Given the description of an element on the screen output the (x, y) to click on. 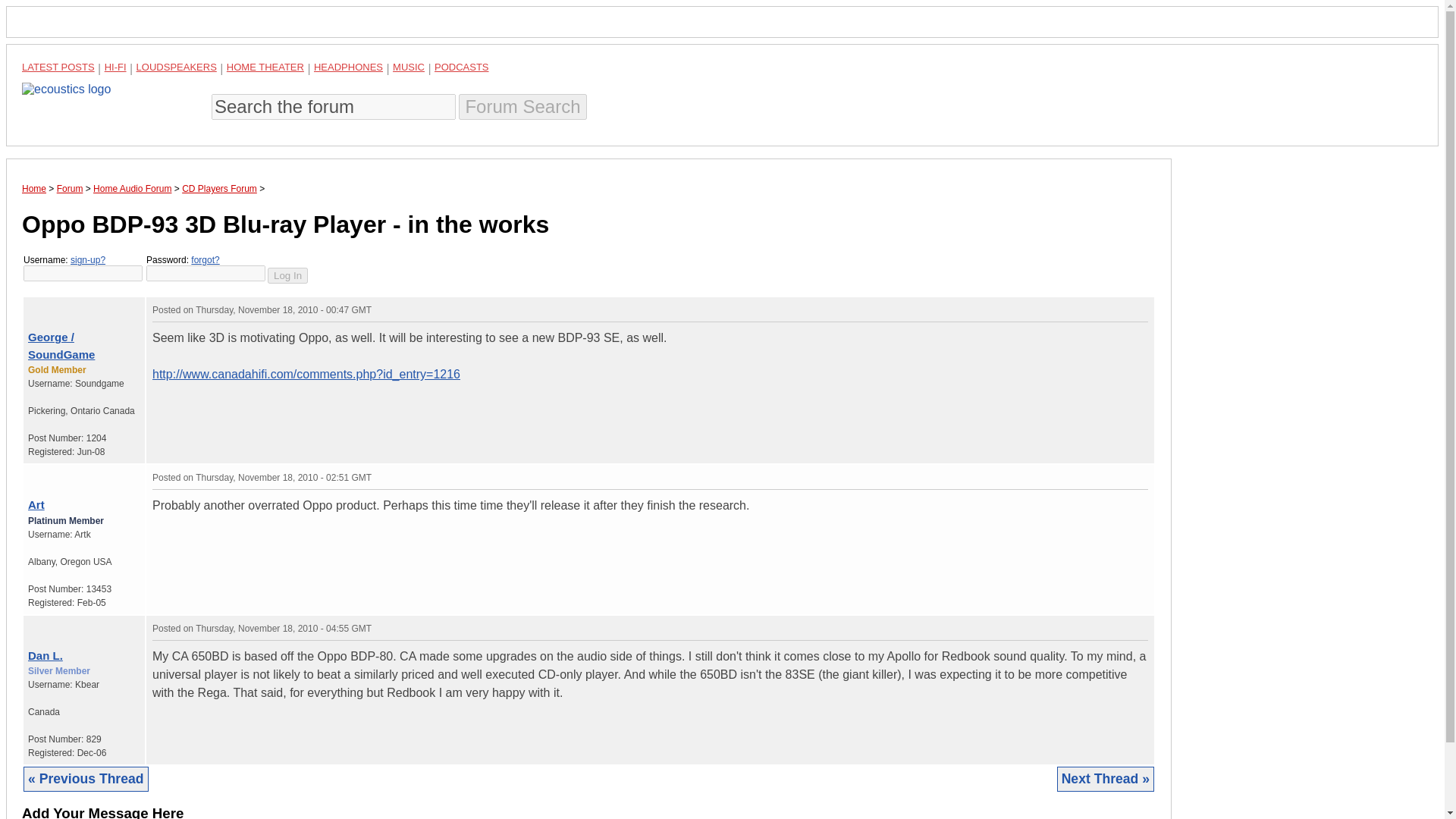
Search (522, 106)
MUSIC (409, 66)
next post (41, 307)
Forgot your password? (204, 259)
Art (36, 504)
LOUDSPEAKERS (176, 66)
CD Players Forum (219, 188)
Forum Search (522, 106)
HOME THEATER (265, 66)
link to this post (76, 474)
